Given the description of an element on the screen output the (x, y) to click on. 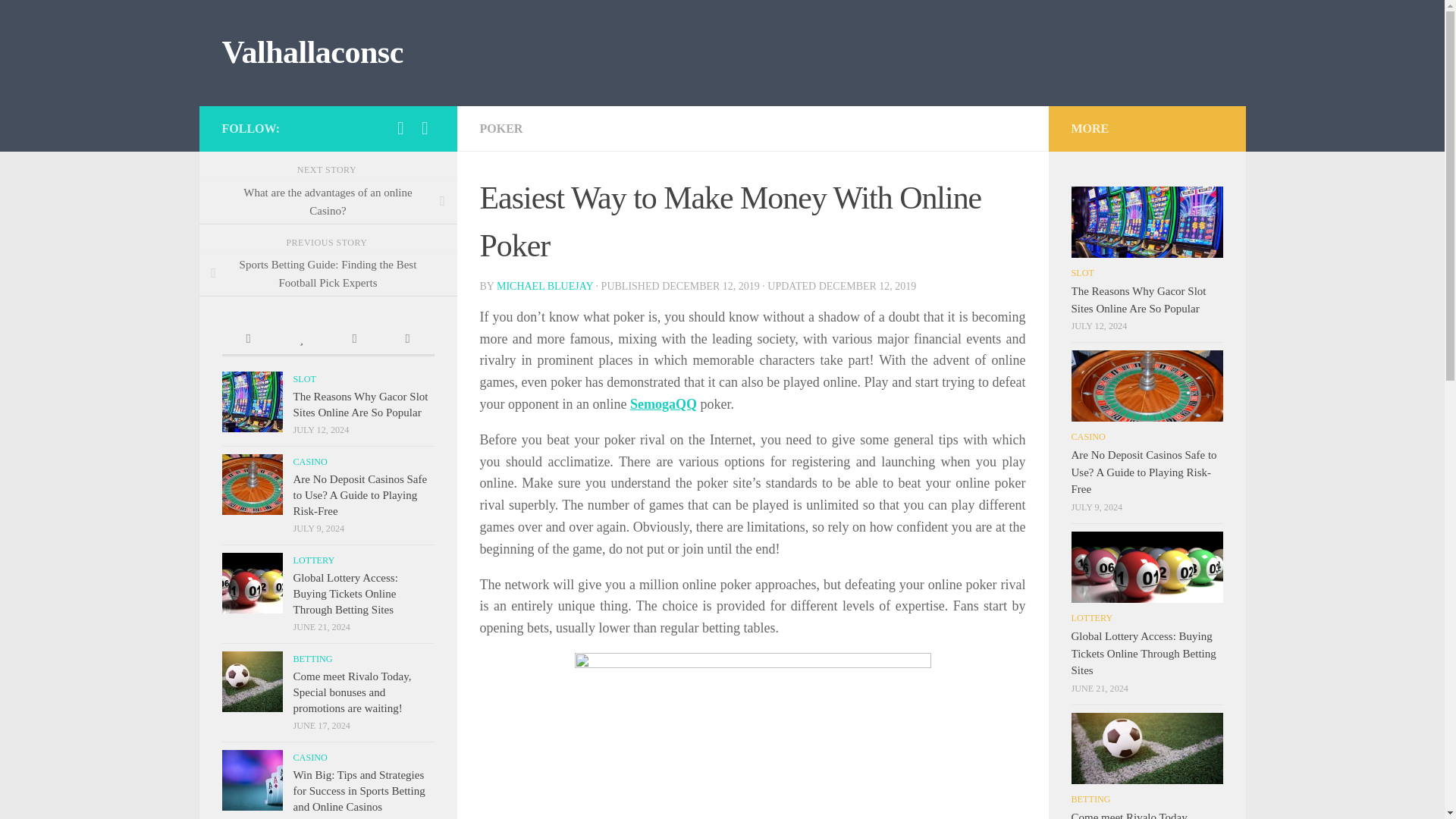
BETTING (311, 658)
CASINO (309, 461)
MICHAEL BLUEJAY (544, 285)
POKER (500, 128)
The Reasons Why Gacor Slot Sites Online Are So Popular (360, 404)
SLOT (303, 378)
SemogaQQ (663, 403)
Follow us on Facebook (400, 127)
Valhallaconsc (312, 53)
